Given the description of an element on the screen output the (x, y) to click on. 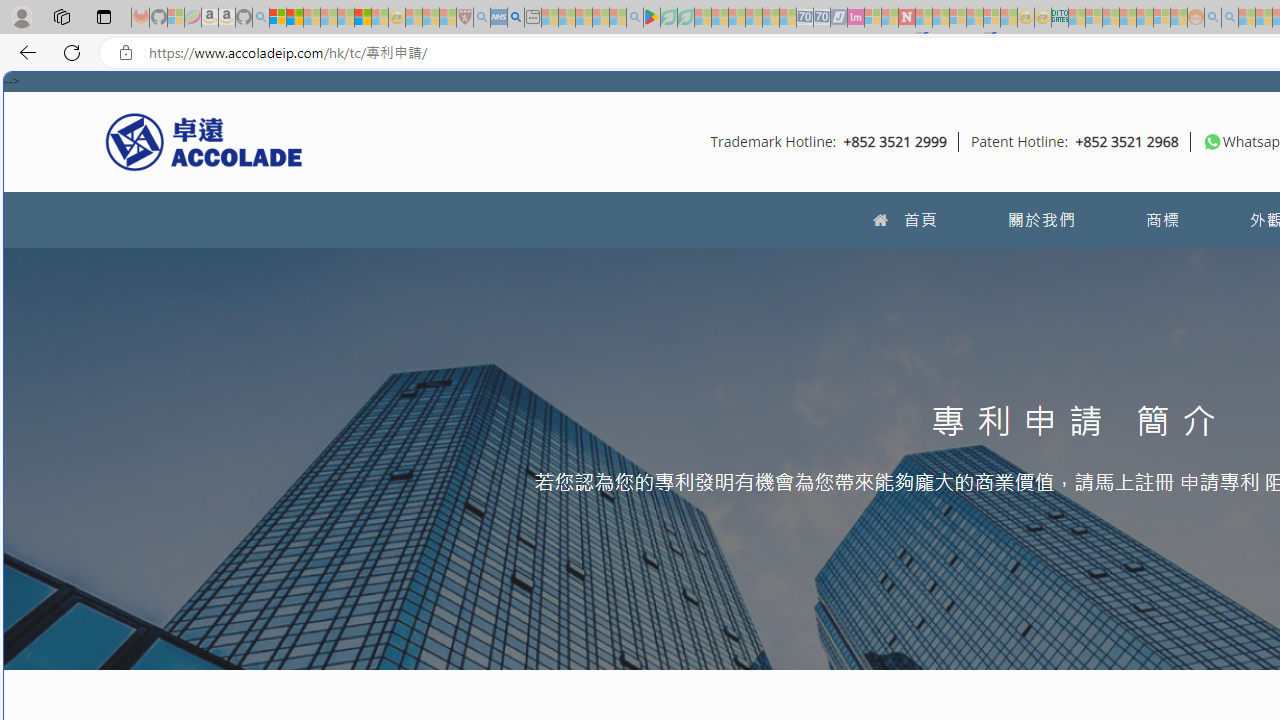
Local - MSN - Sleeping (447, 17)
MSNBC - MSN - Sleeping (1076, 17)
Latest Politics News & Archive | Newsweek.com - Sleeping (906, 17)
Expert Portfolios - Sleeping (1128, 17)
